Given the description of an element on the screen output the (x, y) to click on. 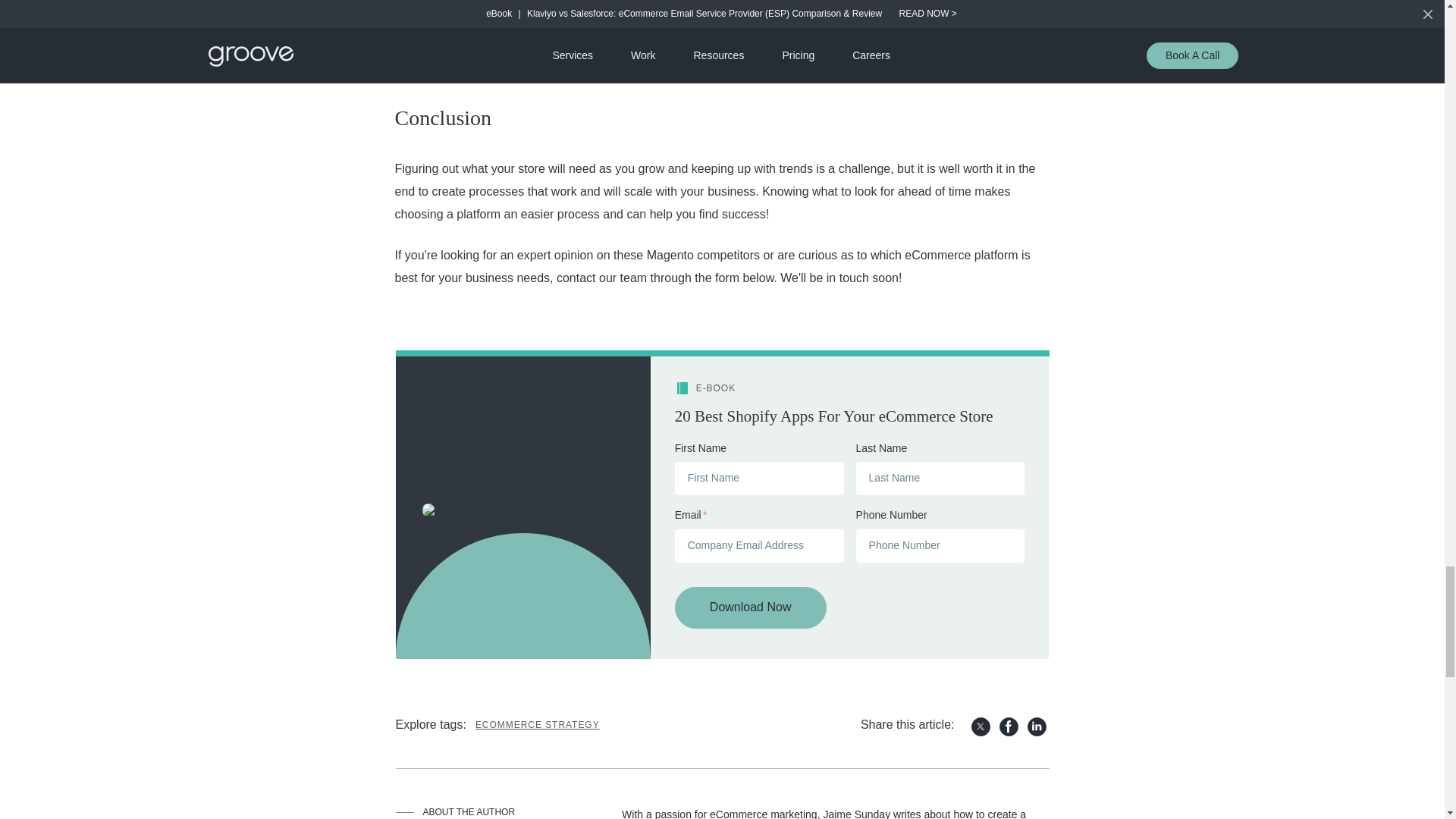
Download Now (751, 607)
